Given the description of an element on the screen output the (x, y) to click on. 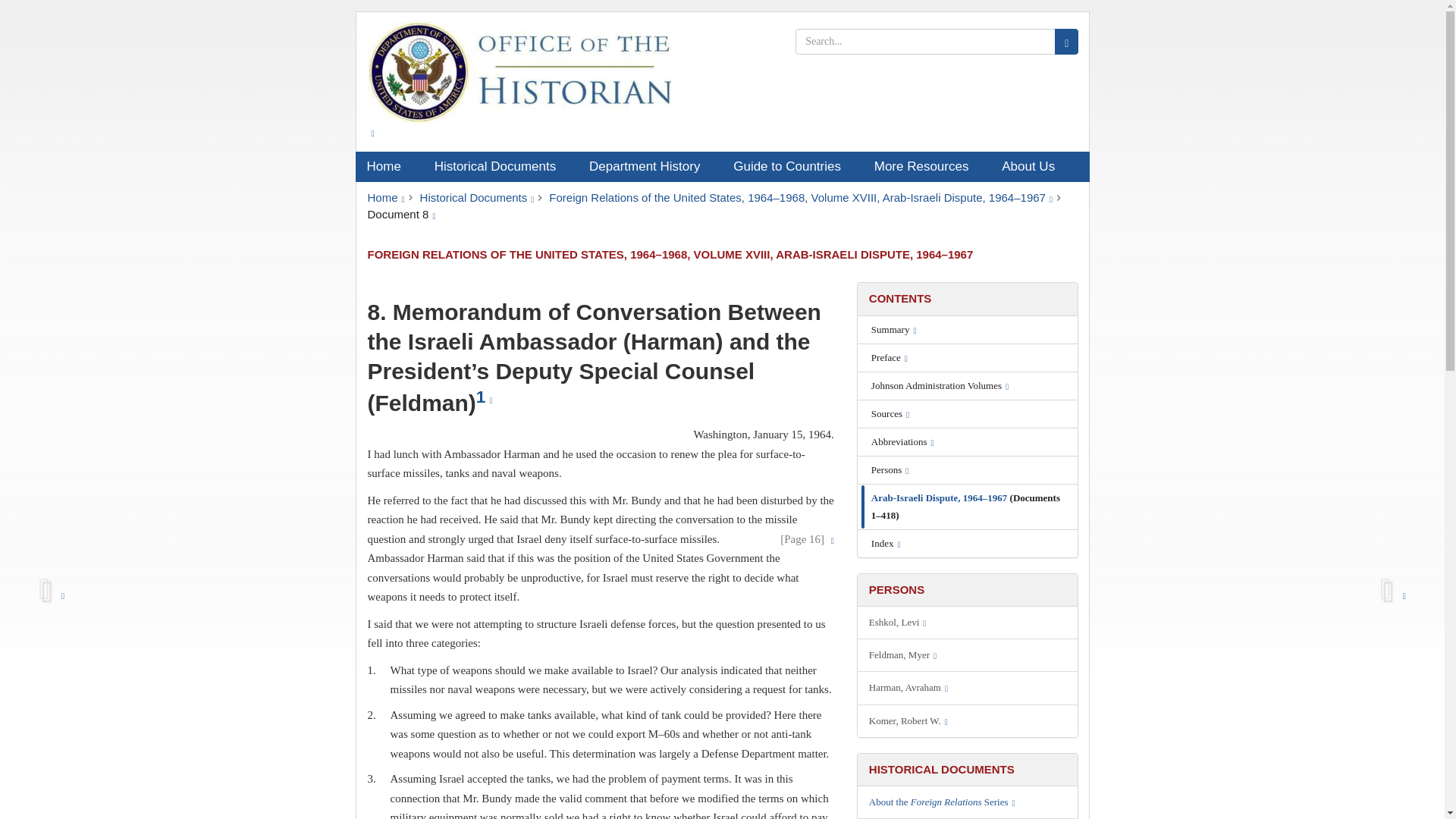
Home (388, 166)
Document 8 (400, 214)
Home (385, 196)
Historical Documents (500, 166)
More Resources (926, 166)
Guide to Countries (792, 166)
Department History (650, 166)
Historical Documents (477, 196)
About Us (1033, 166)
